Given the description of an element on the screen output the (x, y) to click on. 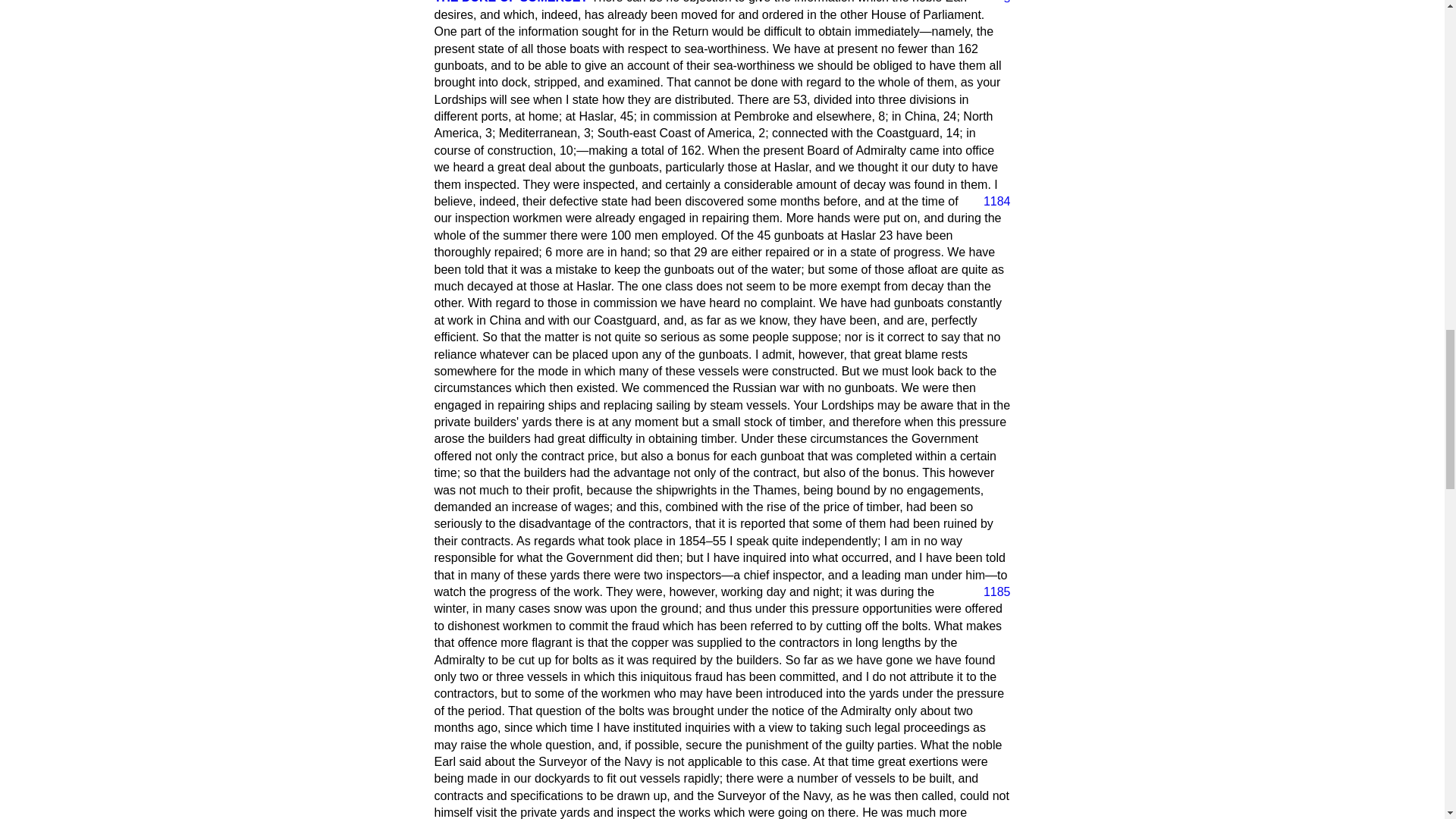
THE DUKE OF SOMERSET (510, 2)
Link to this speech by Lord  Seymour (1000, 2)
1185 (990, 591)
1184 (990, 201)
Lord  Seymour (510, 2)
